Given the description of an element on the screen output the (x, y) to click on. 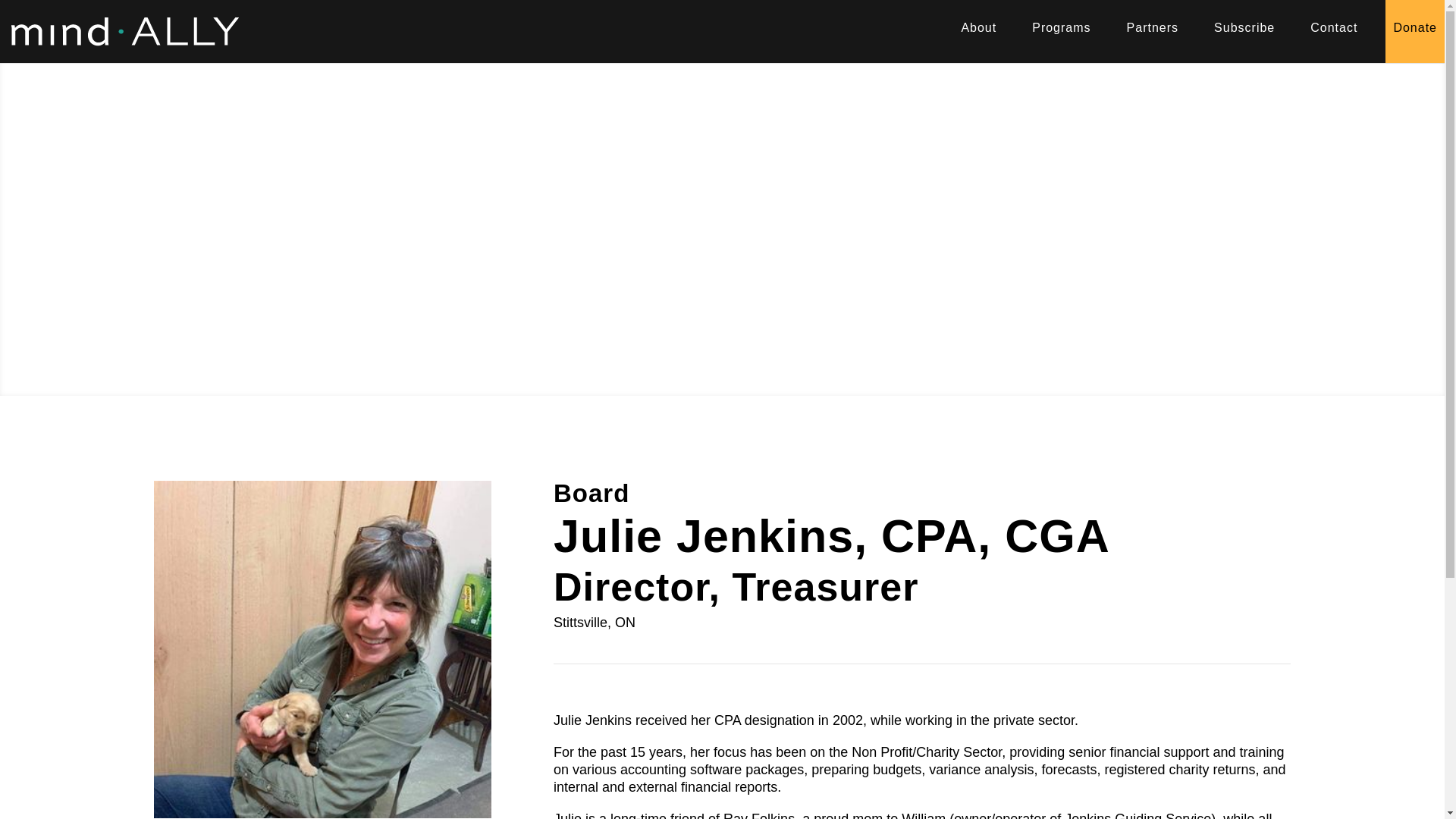
Contact (1334, 31)
Subscribe (1244, 31)
Board (590, 492)
Julie Jenkins Mind Ally Board of Directors (321, 649)
Programs (1061, 31)
Partners (1152, 31)
